Given the description of an element on the screen output the (x, y) to click on. 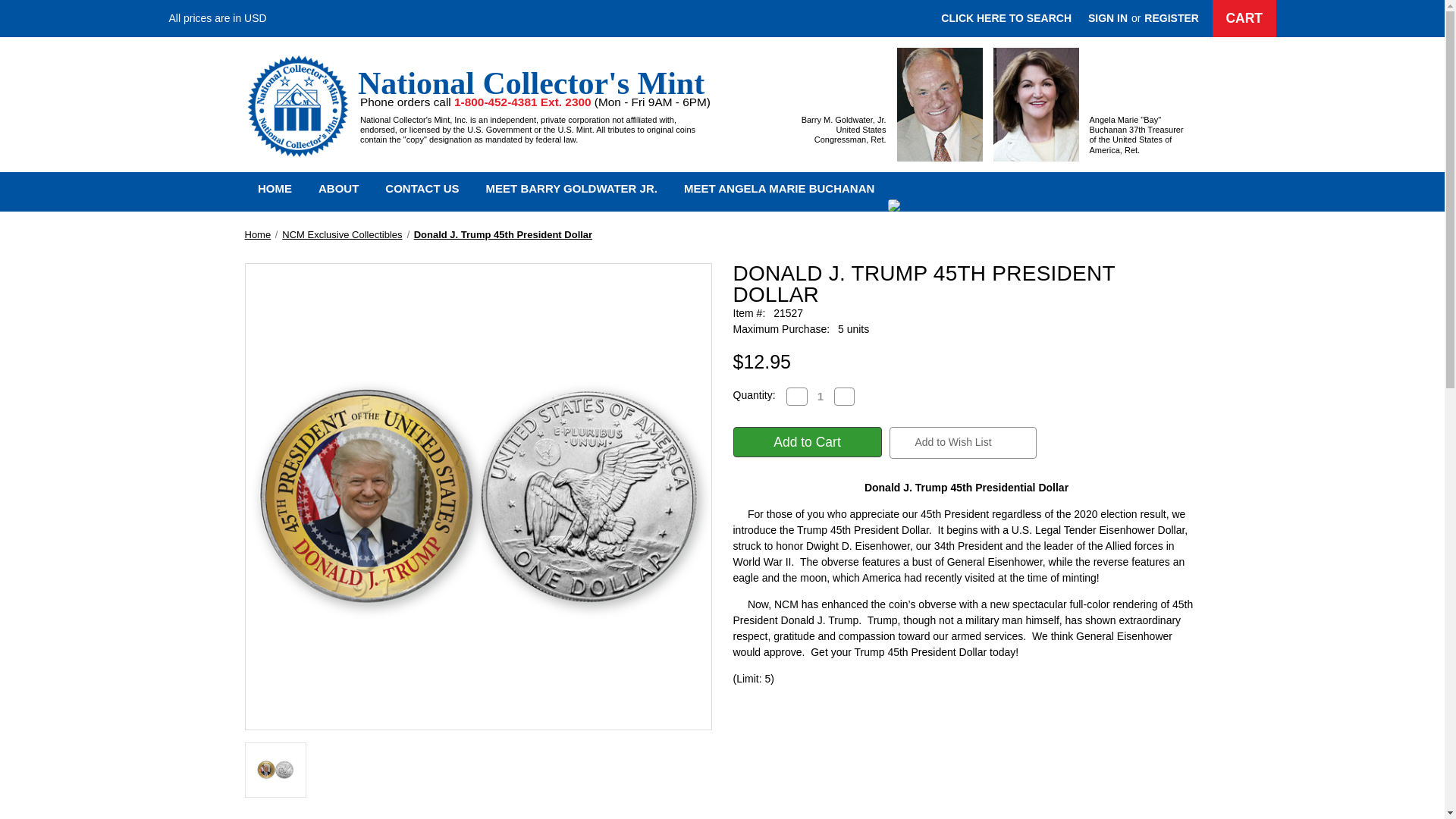
REGISTER (1171, 18)
Add to Cart (806, 441)
SIGN IN (1107, 18)
CLICK HERE TO SEARCH (1006, 18)
National Collector's Mint Logo (296, 104)
1 (819, 395)
CART (1244, 18)
